Given the description of an element on the screen output the (x, y) to click on. 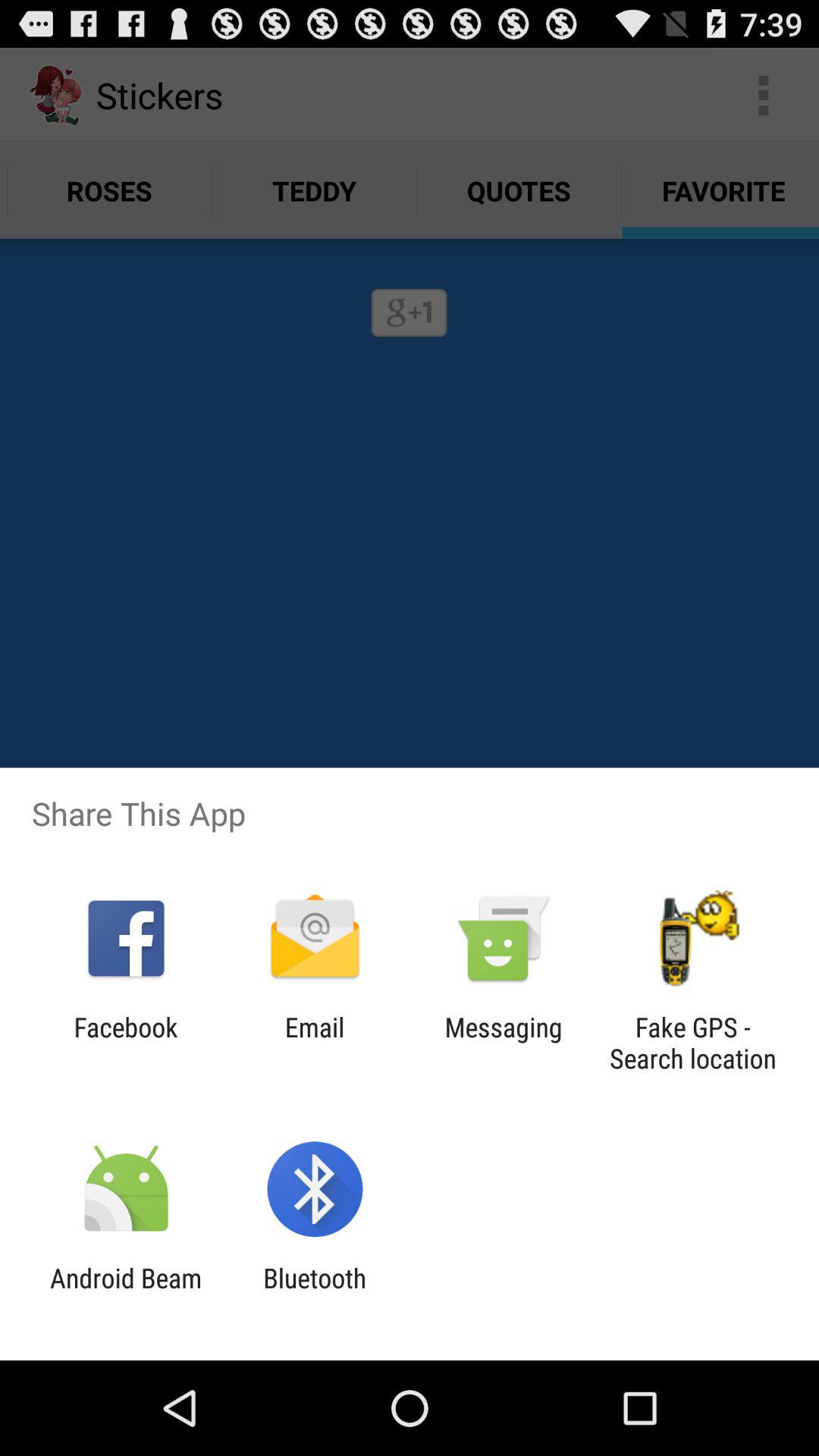
choose bluetooth app (314, 1293)
